Given the description of an element on the screen output the (x, y) to click on. 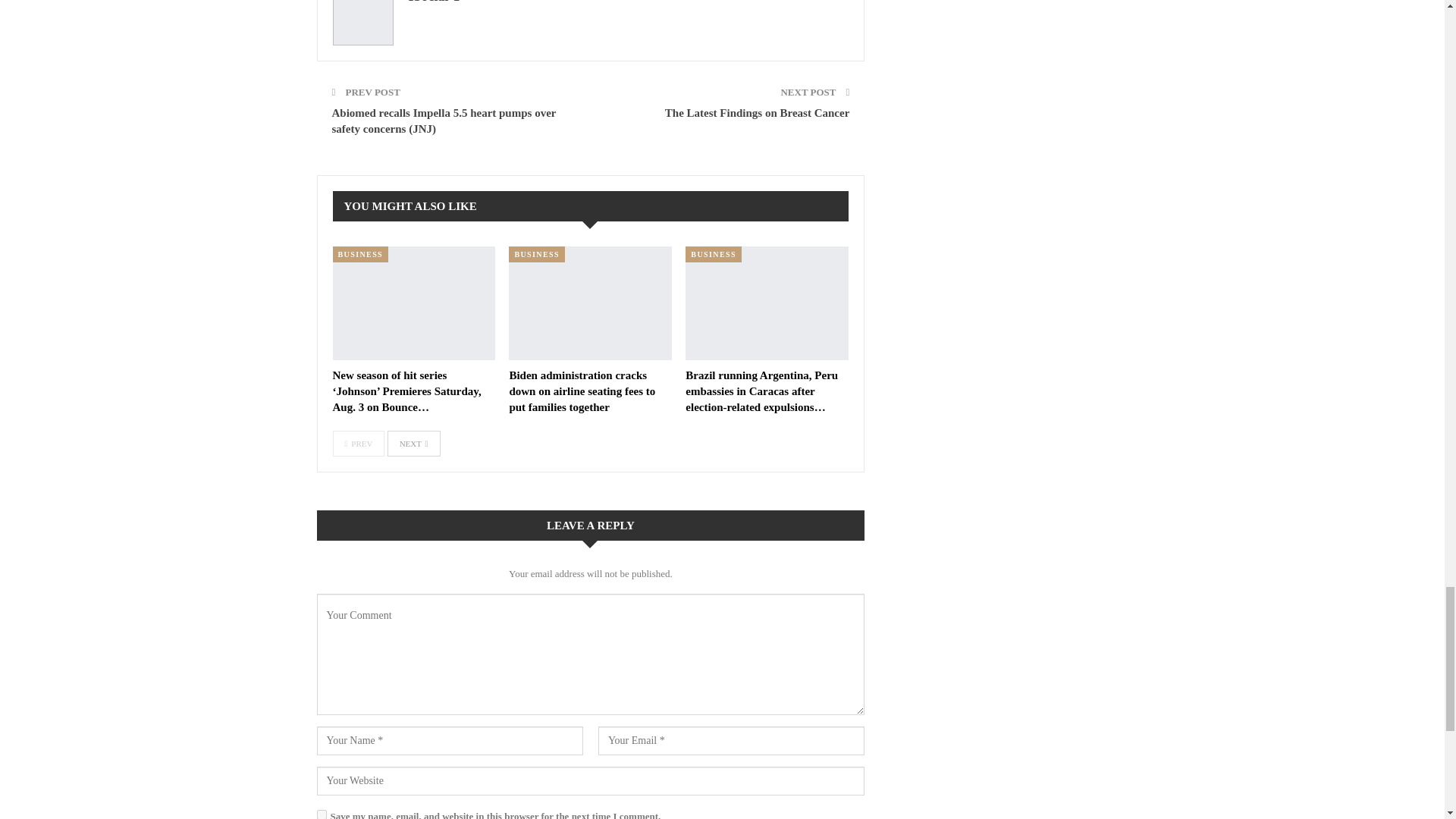
yes (321, 814)
